Given the description of an element on the screen output the (x, y) to click on. 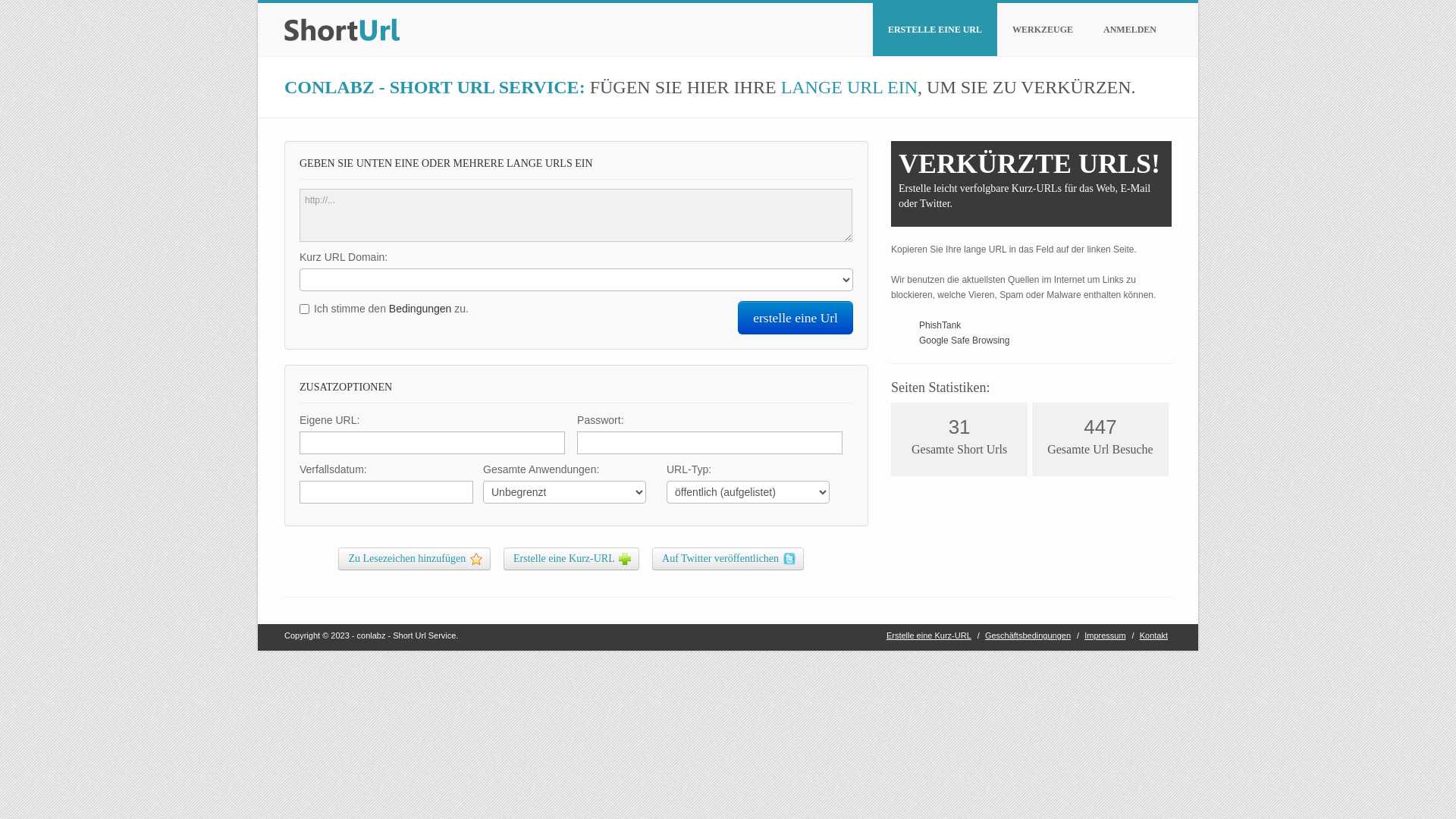
ANMELDEN Element type: text (1129, 29)
Erstelle eine Kurz-URL Element type: text (571, 558)
Geben Sie Ihre lange URL ein Element type: hover (575, 214)
setzte einen benutzerdefinierten Kurz-URL Element type: hover (431, 442)
PhishTank Element type: text (939, 325)
Kontakt Element type: text (1153, 634)
WERKZEUGE Element type: text (1042, 29)
ERSTELLE EINE URL Element type: text (934, 29)
Google Safe Browsing Element type: text (964, 340)
Bedingungen Element type: text (420, 308)
erstelle eine Url Element type: text (795, 317)
Impressum Element type: text (1104, 634)
Erstelle eine Kurz-URL Element type: text (928, 634)
